Given the description of an element on the screen output the (x, y) to click on. 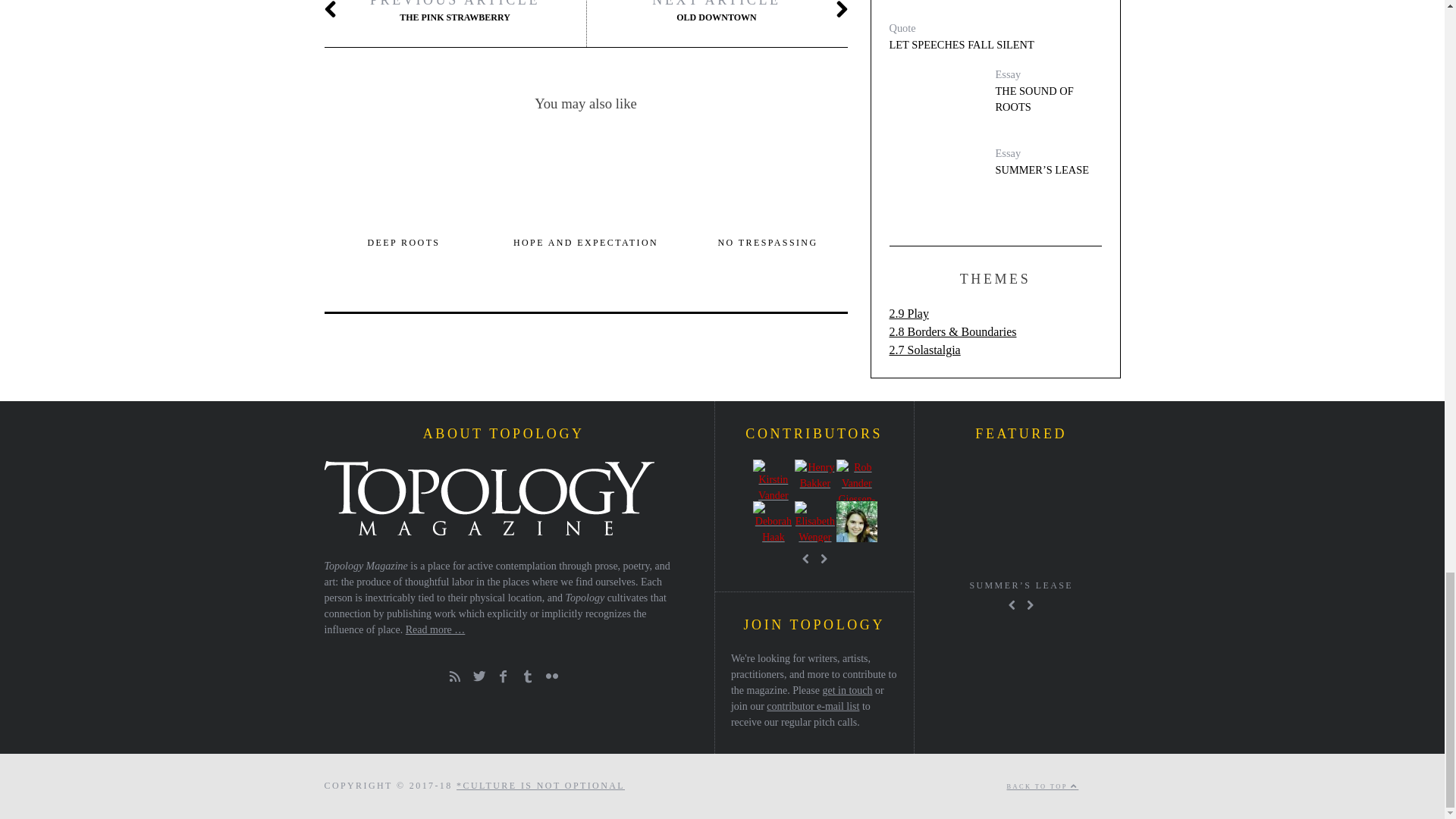
Kirstin Vander Giessen-Reitsma (772, 479)
Henry Bakker (814, 479)
Rob Vander Giessen-Reitsma (856, 479)
